Given the description of an element on the screen output the (x, y) to click on. 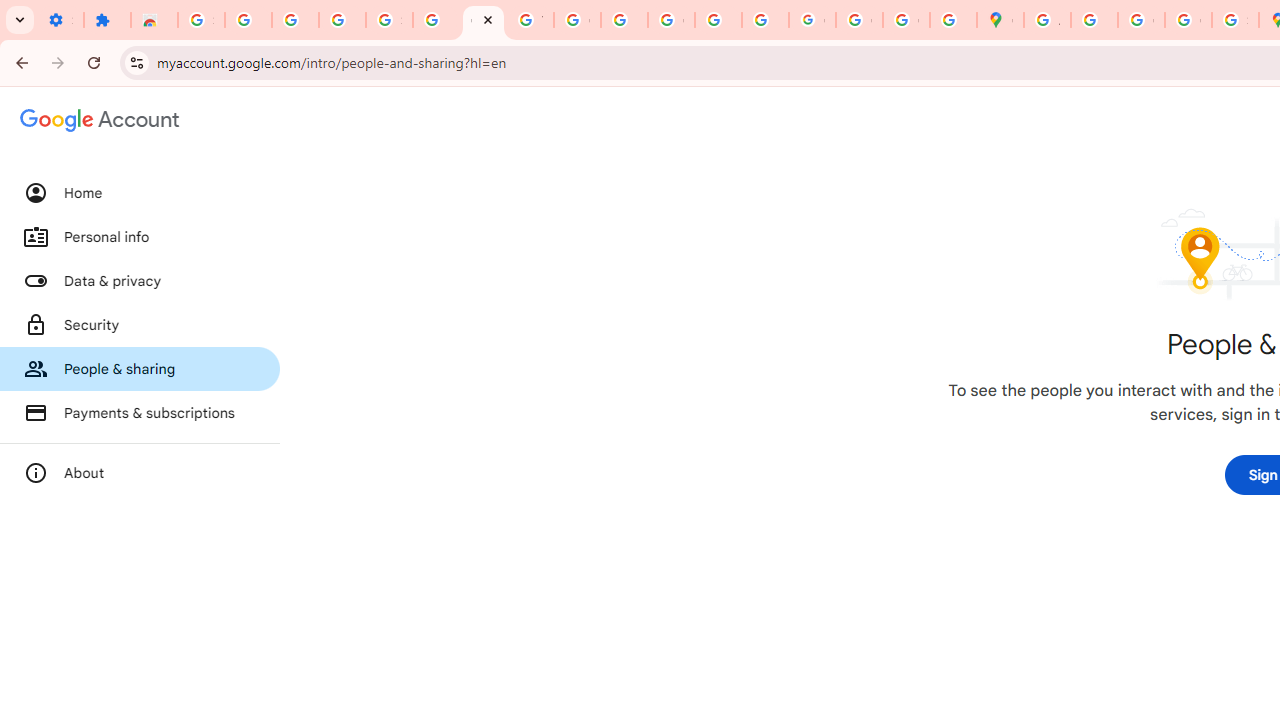
People & sharing (140, 368)
Create your Google Account (1140, 20)
Personal info (140, 237)
Google Maps (999, 20)
Reviews: Helix Fruit Jump Arcade Game (153, 20)
